Given the description of an element on the screen output the (x, y) to click on. 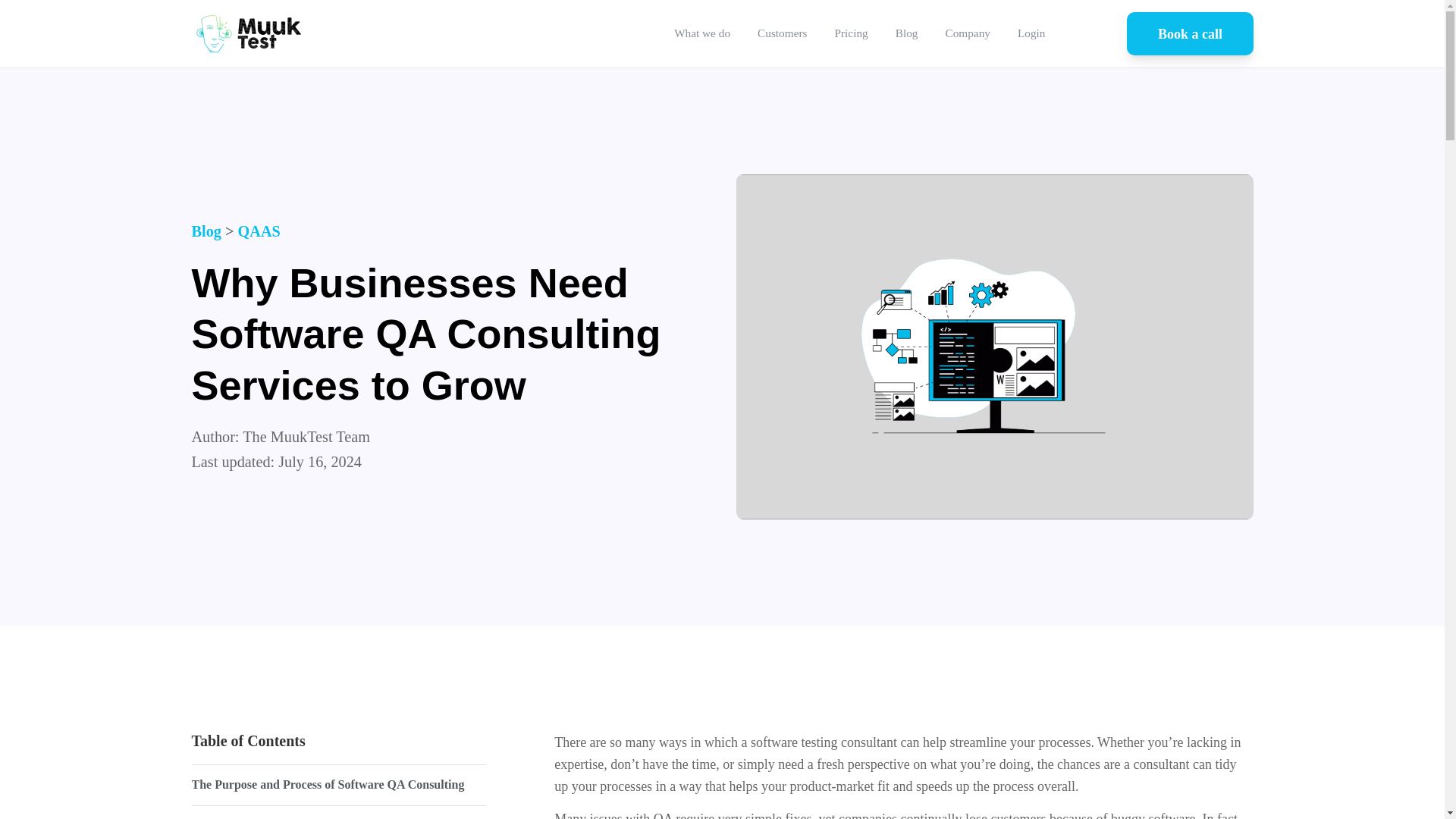
The MuukTest Team (306, 436)
Blog (205, 231)
Pricing (850, 33)
QAAS (259, 230)
The Purpose and Process of Software QA Consulting (327, 784)
Customers (782, 33)
What we do (702, 33)
Company (967, 33)
Book a call (1189, 34)
